Given the description of an element on the screen output the (x, y) to click on. 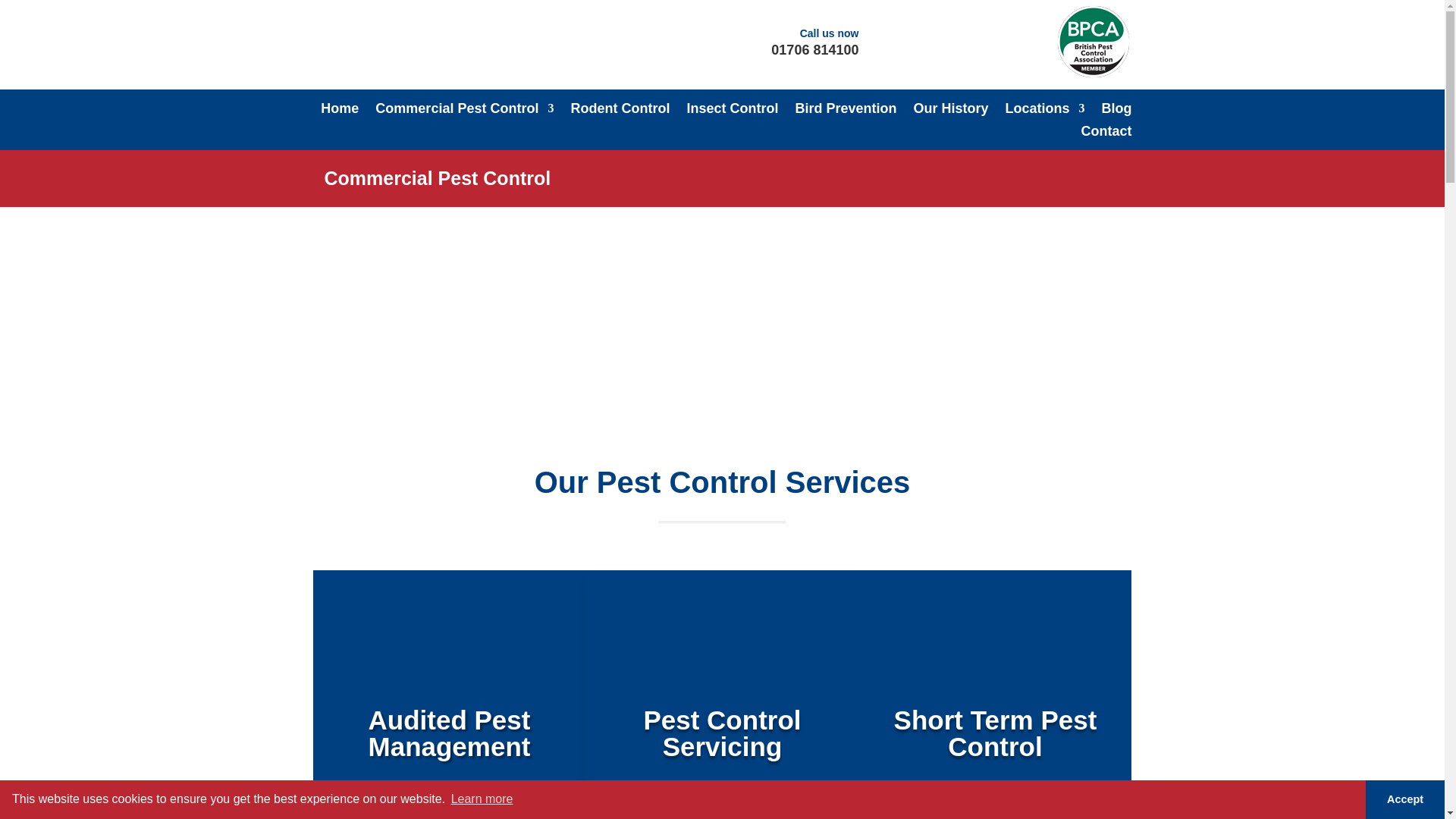
Click Here (448, 799)
Commercial Pest Control (464, 111)
Home (339, 111)
Contact (1106, 134)
Bird Prevention (845, 111)
Rodent Control (619, 111)
Click Here (721, 799)
Insect Control (731, 111)
Click Here (994, 799)
Our History (950, 111)
Blog (1115, 111)
Learn more (481, 798)
Locations (1044, 111)
